Given the description of an element on the screen output the (x, y) to click on. 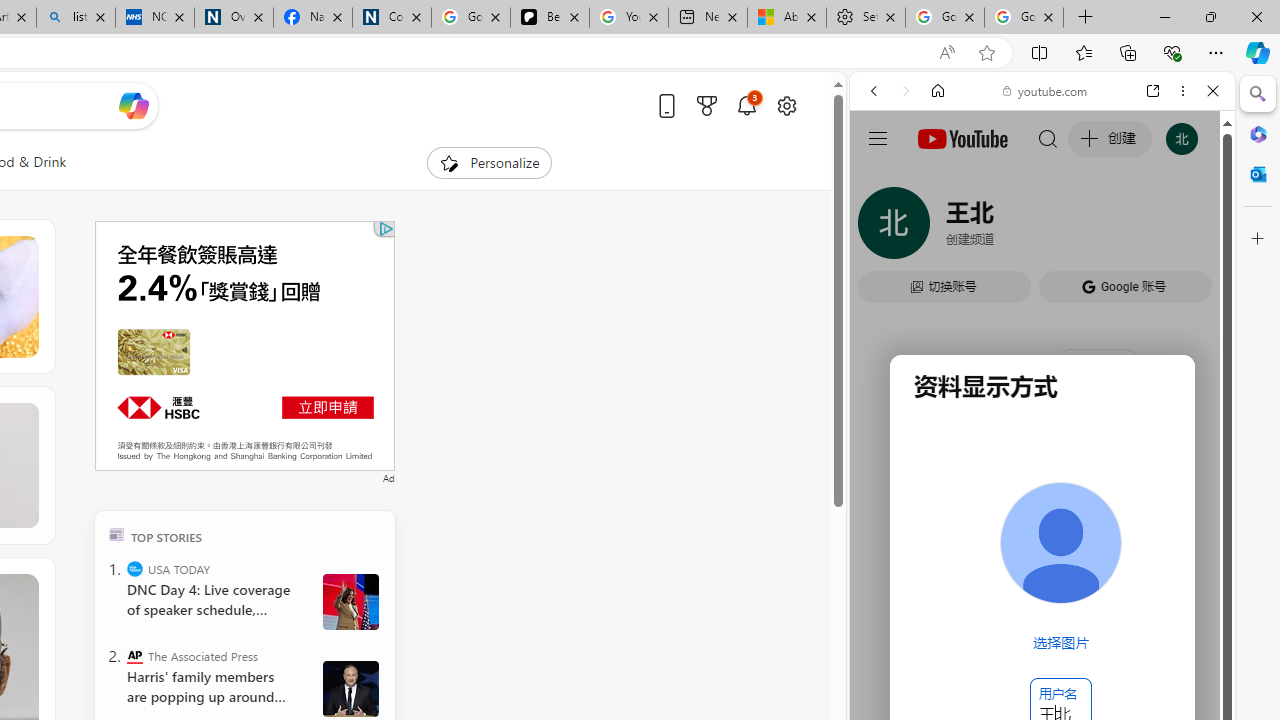
Aberdeen, Hong Kong SAR hourly forecast | Microsoft Weather (786, 17)
Be Smart | creating Science videos | Patreon (549, 17)
Search Filter, WEB (882, 228)
Music (1042, 543)
TOP (116, 534)
#you (1042, 445)
USA TODAY (134, 568)
Class: qc-adchoices-link top-right  (385, 228)
Show More Music (1164, 546)
